Given the description of an element on the screen output the (x, y) to click on. 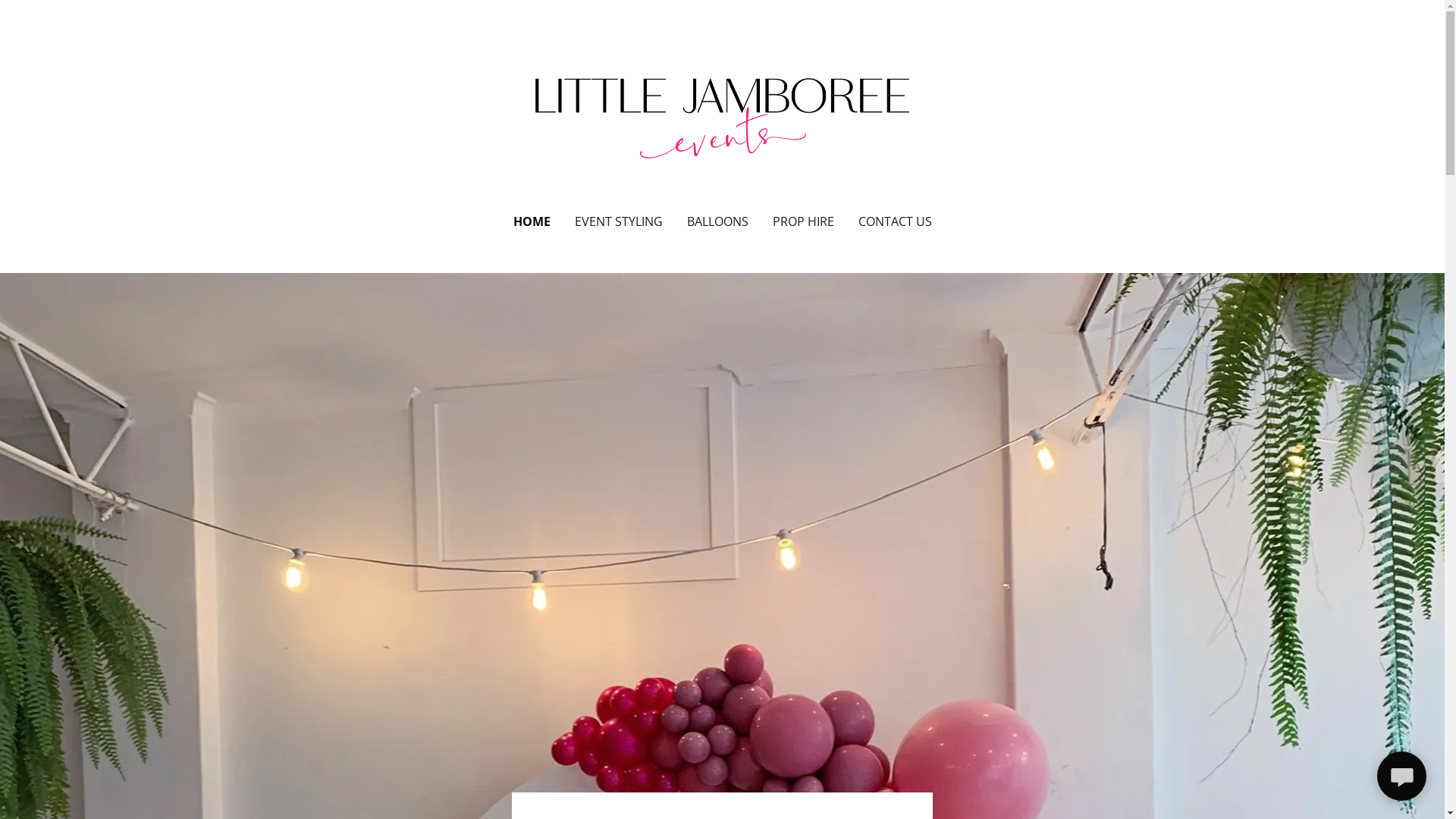
PROP HIRE Element type: text (802, 221)
Little Jamboree
 Element type: hover (722, 116)
HOME Element type: text (530, 221)
EVENT STYLING Element type: text (618, 221)
CONTACT US Element type: text (894, 221)
BALLOONS Element type: text (717, 221)
